Given the description of an element on the screen output the (x, y) to click on. 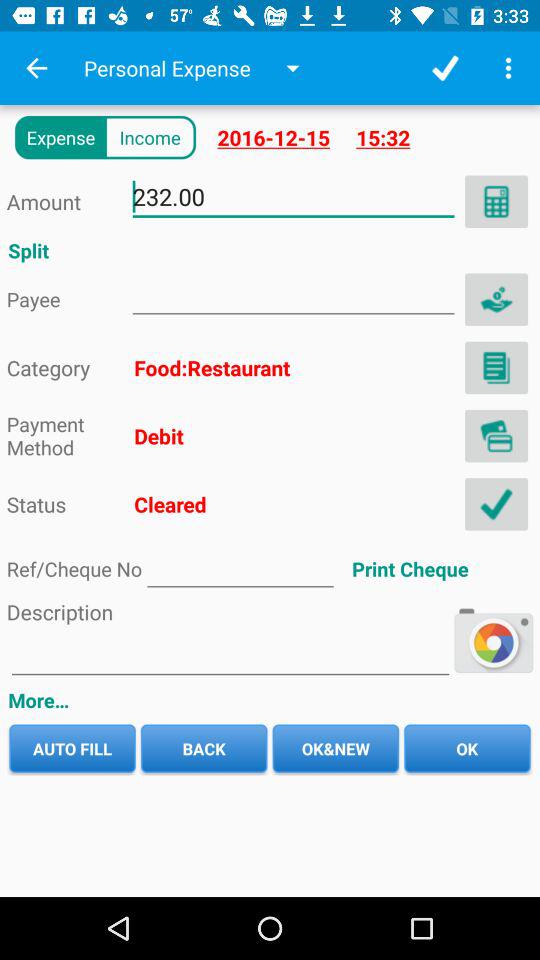
clear option (496, 504)
